Given the description of an element on the screen output the (x, y) to click on. 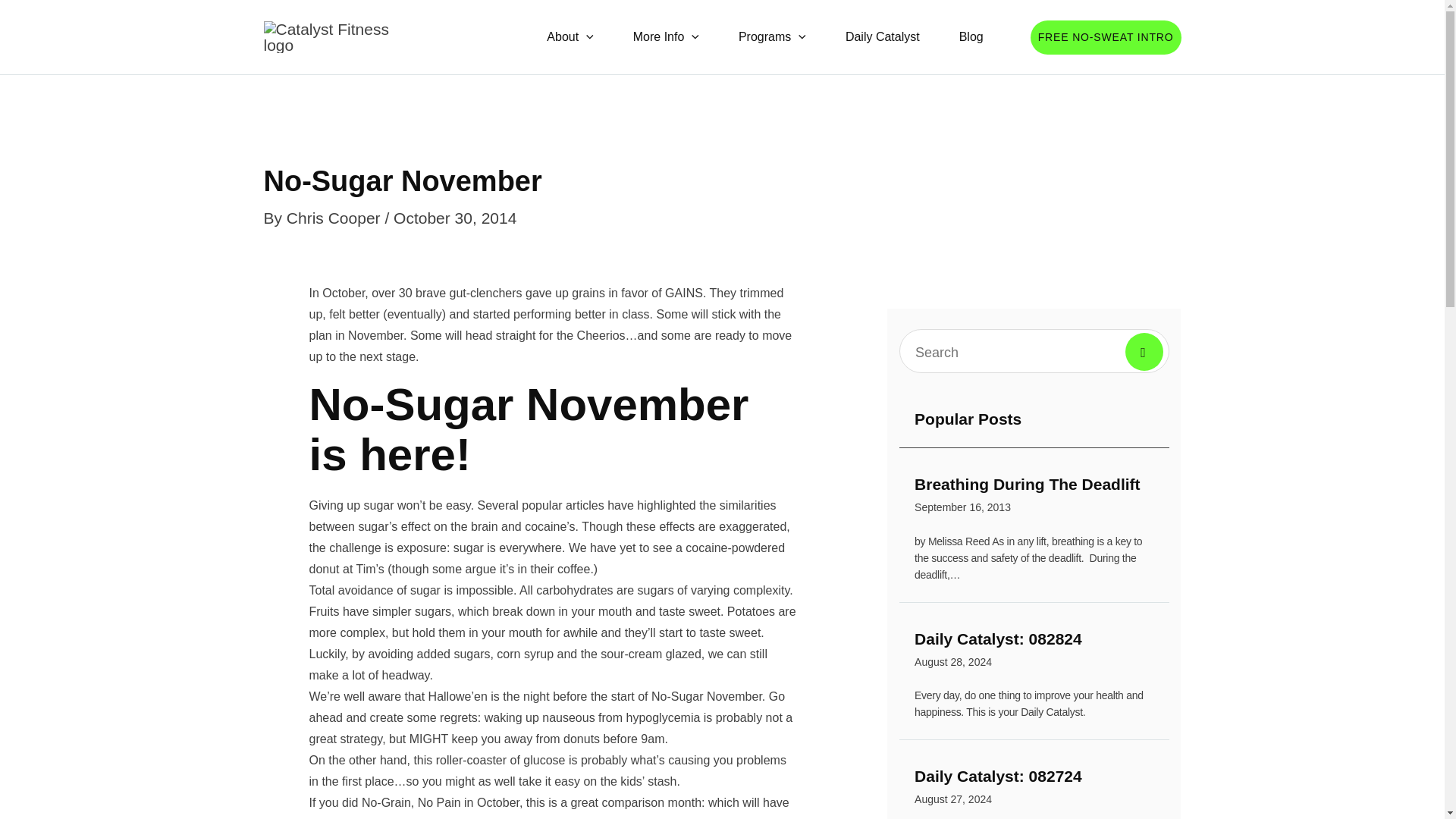
exaggerated (752, 526)
Chris Cooper (335, 217)
Programs (1034, 497)
Blog (772, 36)
Daily Catalyst (1034, 651)
More Info (971, 36)
FREE NO-SWEAT INTRO (882, 36)
